Given the description of an element on the screen output the (x, y) to click on. 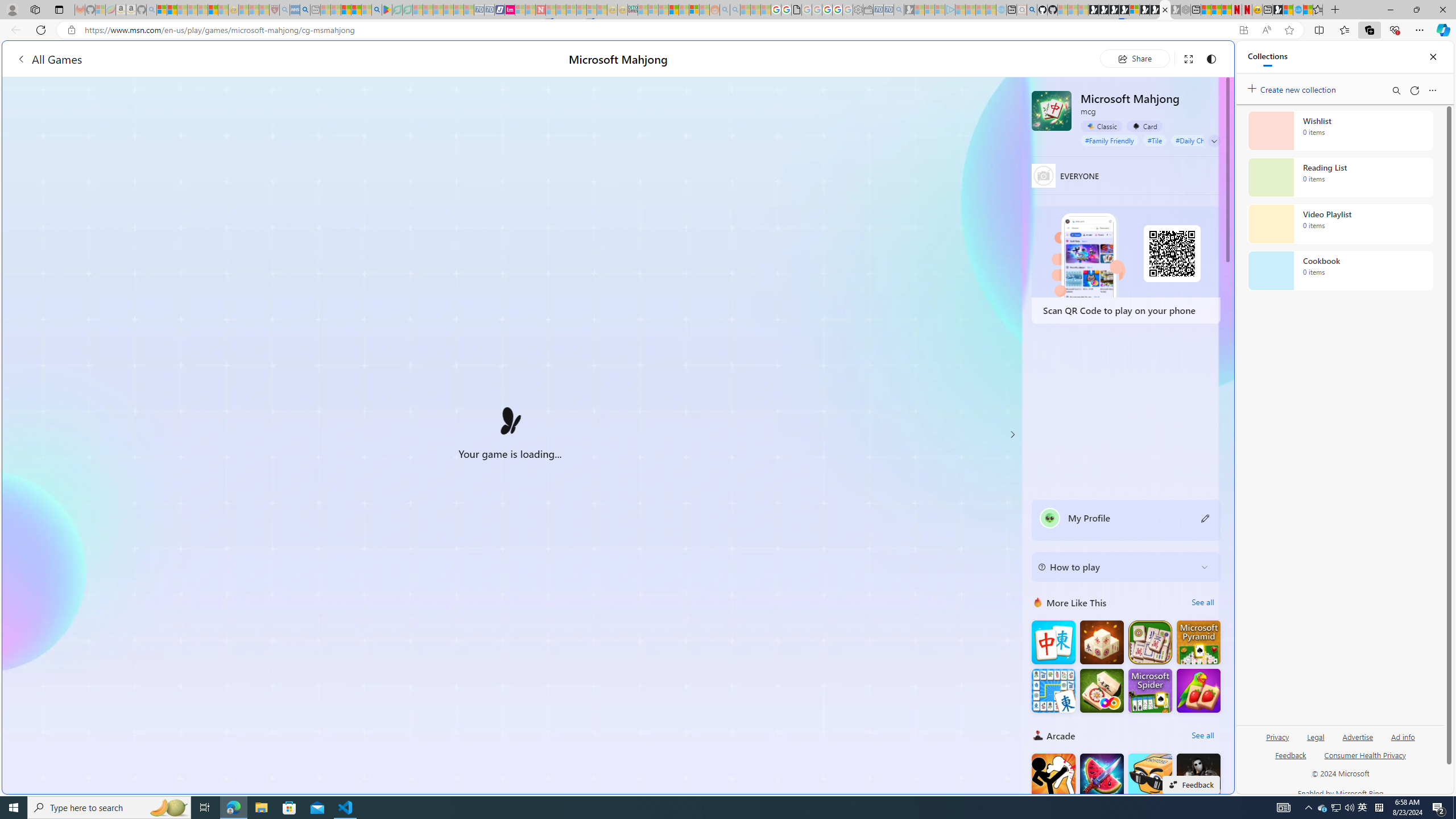
""'s avatar (1049, 518)
Class: image (510, 420)
Cubes2048 (1149, 775)
Microsoft Pyramid Solitaire (1198, 642)
Video Playlist collection, 0 items (1339, 223)
